Given the description of an element on the screen output the (x, y) to click on. 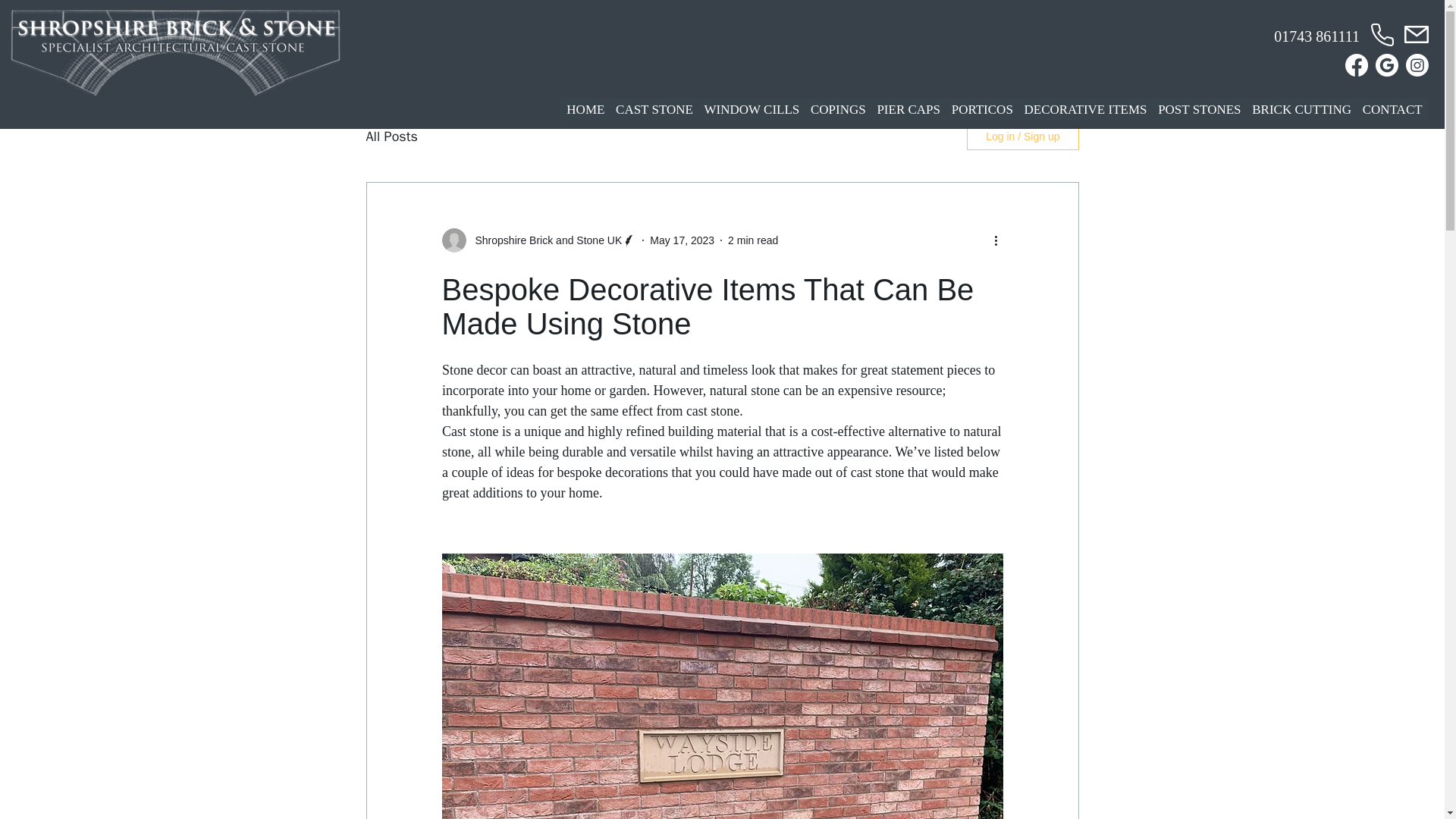
WINDOW CILLS (751, 108)
PIER CAPS (907, 108)
Shropshire Brick and Stone UK (543, 239)
PORTICOS (980, 108)
2 min read (752, 239)
May 17, 2023 (681, 239)
logo-transp-wht.webp (175, 52)
01743 861111 (1316, 36)
DECORATIVE ITEMS (1085, 108)
